Given the description of an element on the screen output the (x, y) to click on. 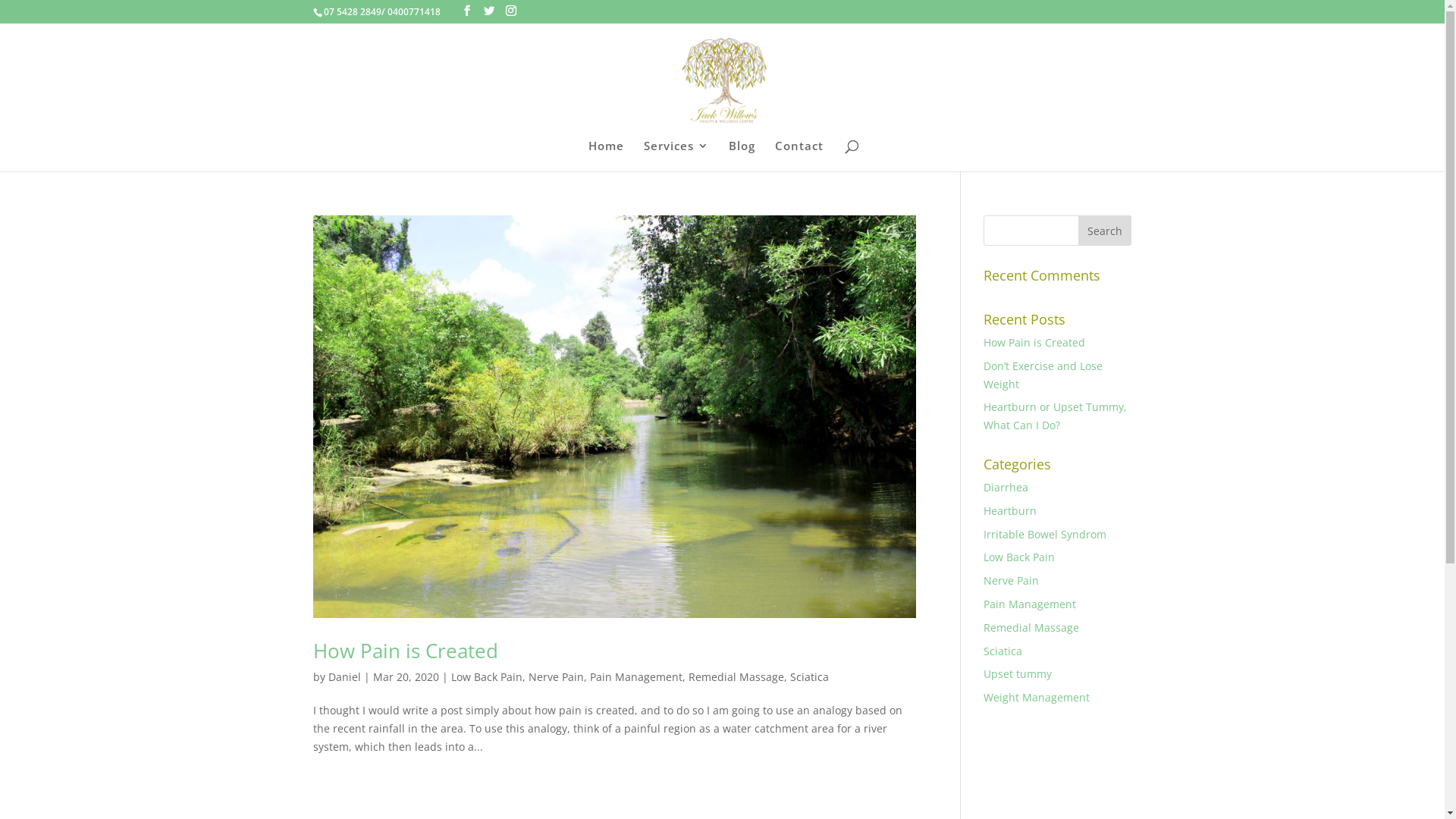
Sciatica Element type: text (1002, 650)
Upset tummy Element type: text (1017, 673)
Heartburn or Upset Tummy, What Can I Do? Element type: text (1054, 415)
Daniel Element type: text (343, 676)
Services Element type: text (675, 155)
Pain Management Element type: text (1029, 603)
Remedial Massage Element type: text (1031, 627)
Nerve Pain Element type: text (555, 676)
Nerve Pain Element type: text (1010, 580)
Heartburn Element type: text (1009, 510)
Irritable Bowel Syndrom Element type: text (1044, 534)
Diarrhea Element type: text (1005, 487)
Blog Element type: text (741, 155)
How Pain is Created Element type: text (404, 650)
Home Element type: text (606, 155)
Weight Management Element type: text (1036, 697)
How Pain is Created Element type: text (1034, 342)
Low Back Pain Element type: text (485, 676)
Low Back Pain Element type: text (1018, 556)
Search Element type: text (1104, 230)
Remedial Massage Element type: text (736, 676)
Pain Management Element type: text (635, 676)
Contact Element type: text (799, 155)
Sciatica Element type: text (809, 676)
